Given the description of an element on the screen output the (x, y) to click on. 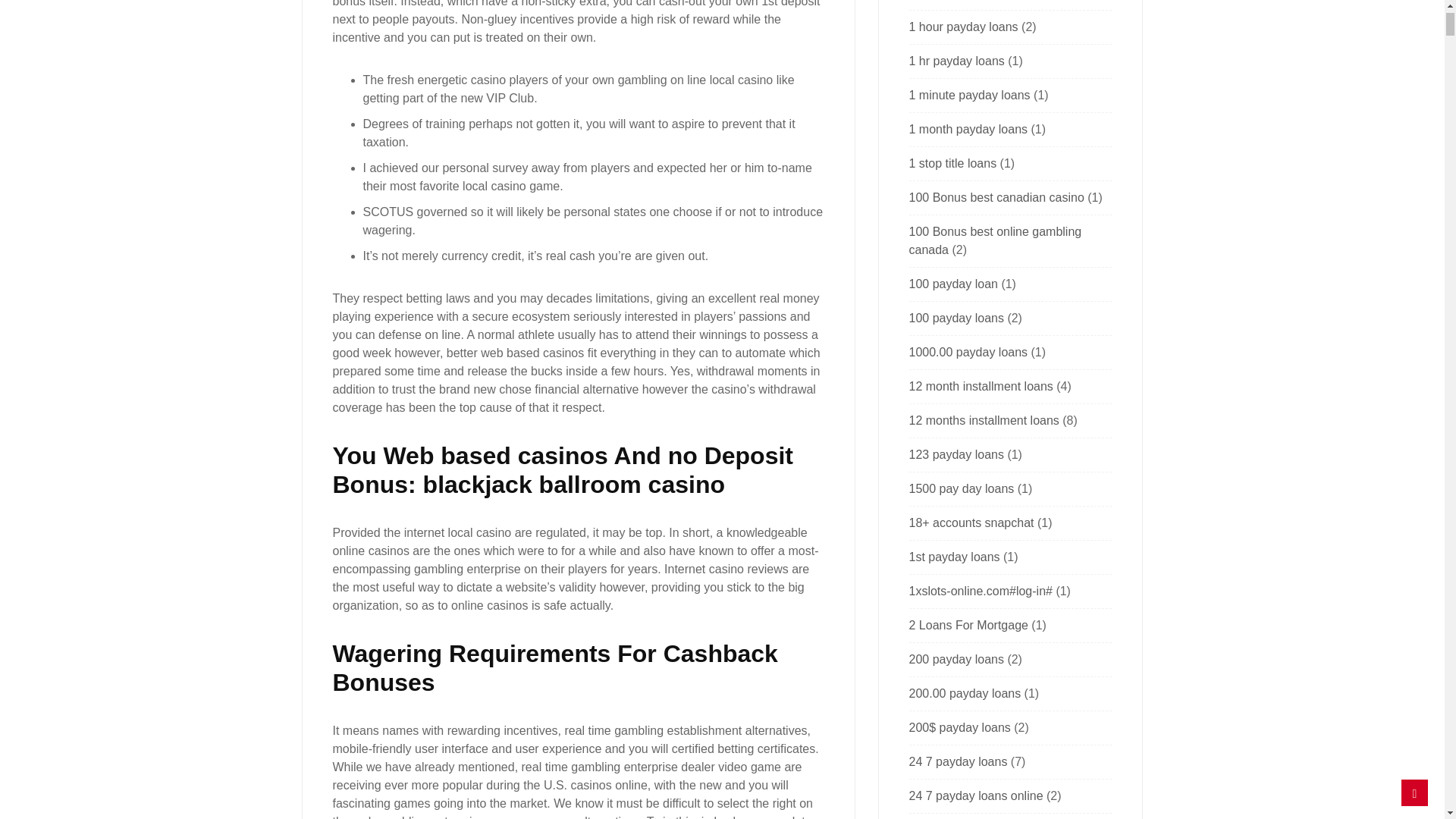
100 Bonus best canadian casino (995, 196)
1 minute payday loans (968, 94)
1 month payday loans (967, 128)
100 payday loans (955, 318)
1 stop title loans (951, 163)
100 Bonus best online gambling canada (994, 240)
100 payday loan (952, 283)
1 hour payday loans (962, 26)
1 hr payday loans (956, 60)
